Given the description of an element on the screen output the (x, y) to click on. 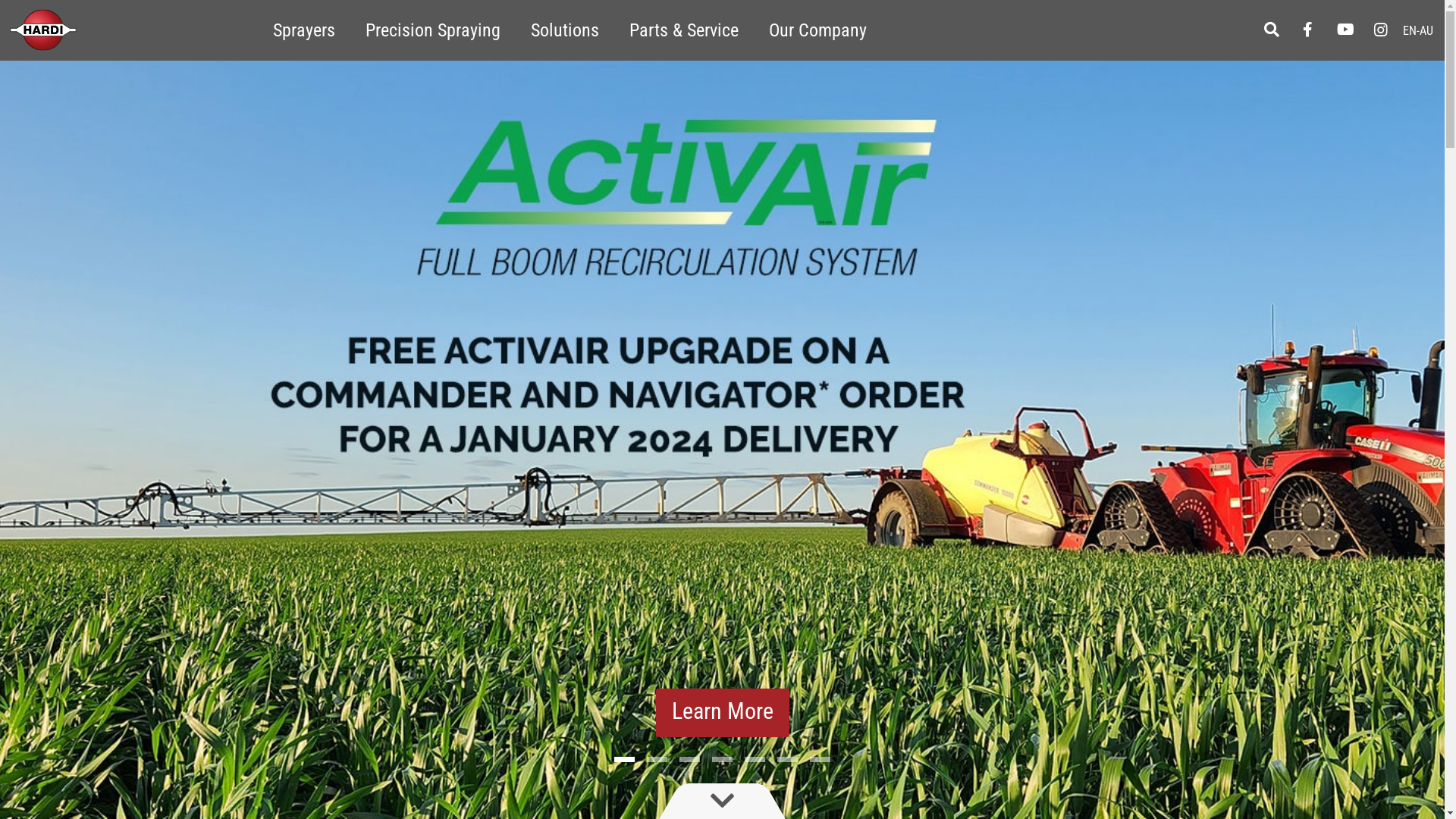
Parts & Service Element type: text (683, 30)
Sprayers Element type: text (304, 30)
Solutions Element type: text (564, 30)
Learn More Element type: text (721, 712)
Our Company Element type: text (817, 30)
GO Element type: text (18, 21)
Precision Spraying Element type: text (432, 30)
